Given the description of an element on the screen output the (x, y) to click on. 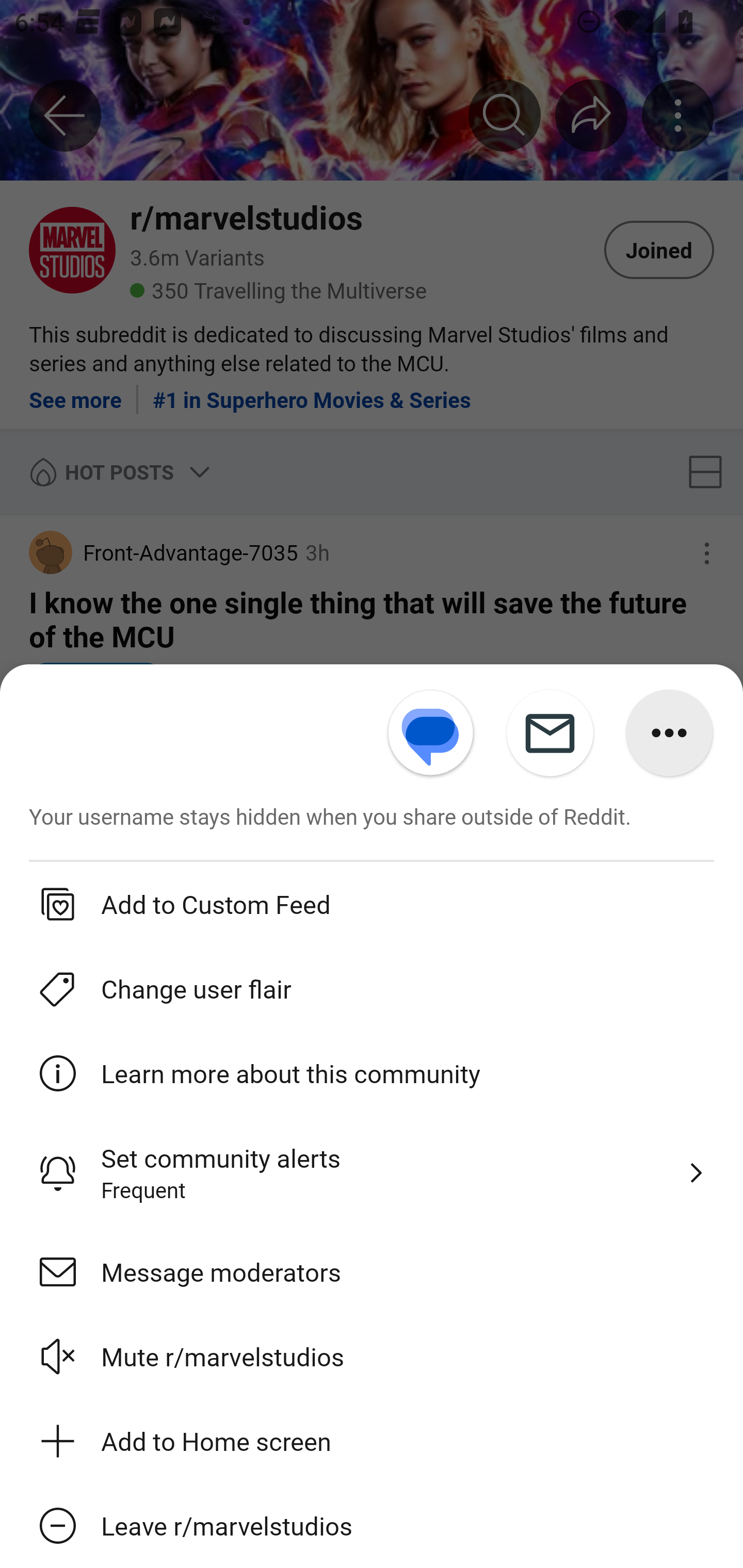
SMS (430, 732)
Email (549, 732)
More (669, 732)
Add to Custom Feed (371, 902)
Change user flair (371, 987)
Learn more about this community (371, 1073)
Set community alerts Set community alerts Frequent (371, 1172)
Message moderators (371, 1271)
Mute r/marvelstudios (371, 1355)
Add to Home screen (371, 1439)
Leave r/marvelstudios (371, 1524)
